Given the description of an element on the screen output the (x, y) to click on. 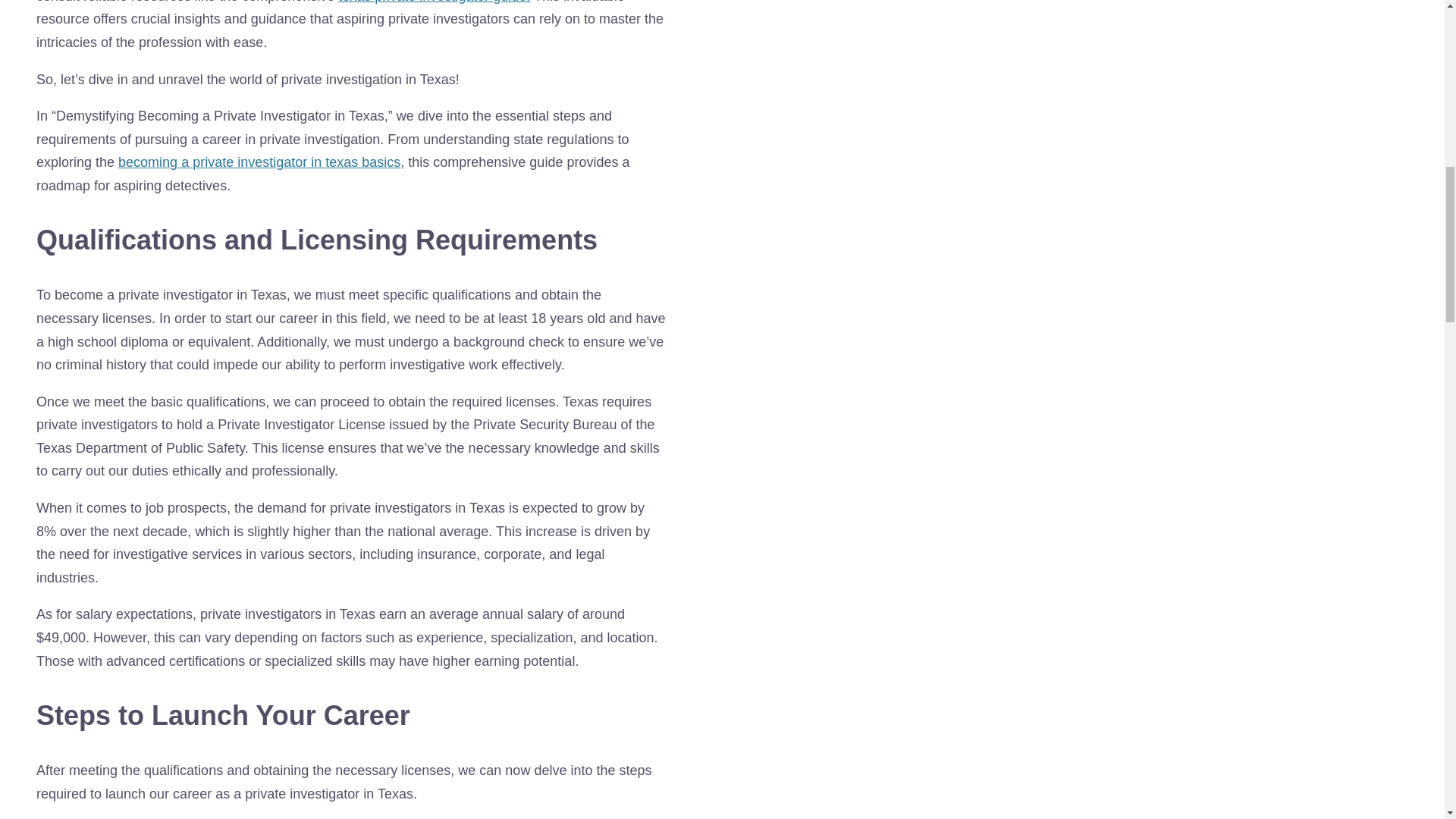
becoming a private investigator in texas basics (258, 161)
texas private investigator guide. (433, 2)
Demystifying Becoming a Private Investigator in Texas (433, 2)
